Given the description of an element on the screen output the (x, y) to click on. 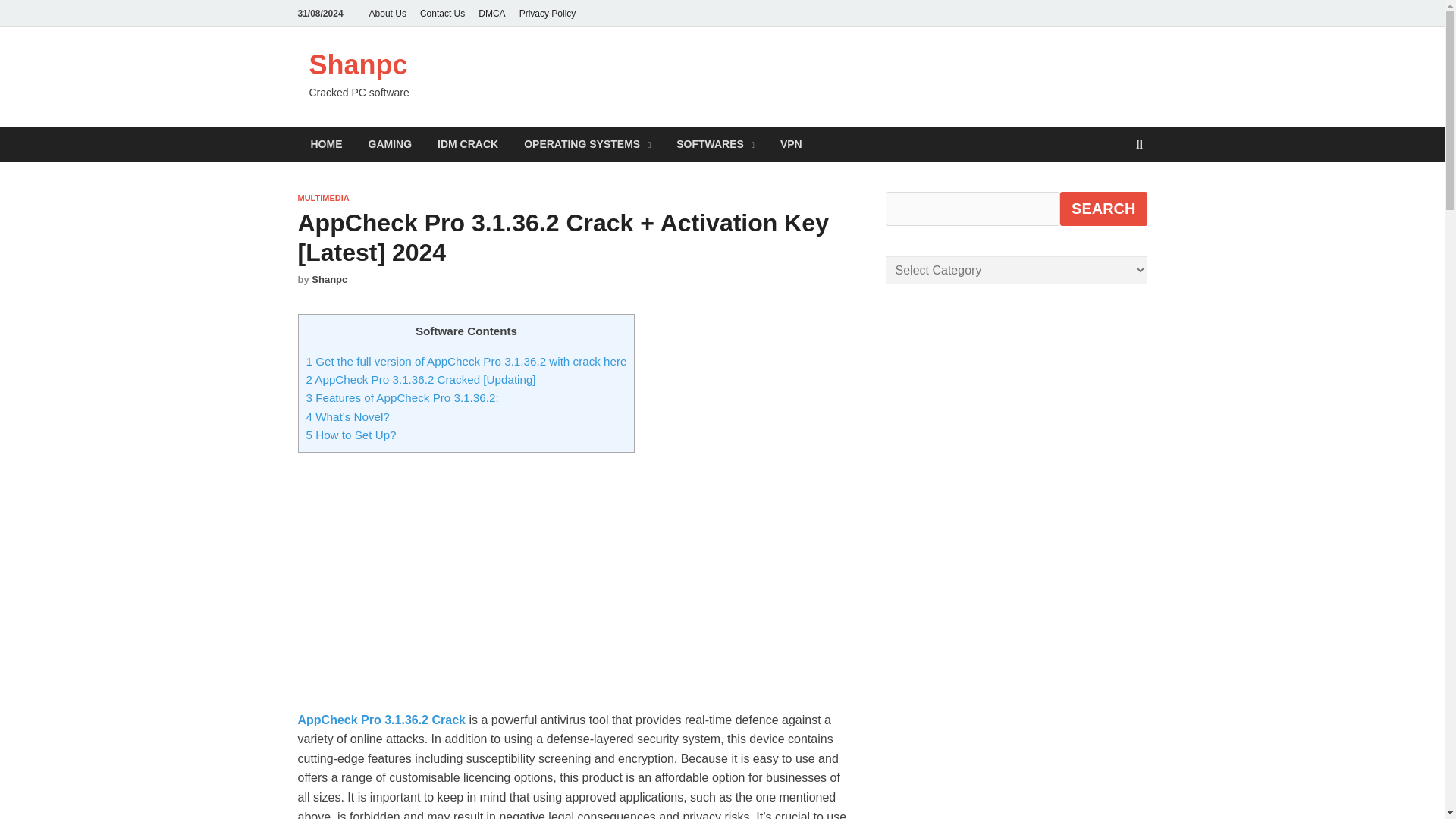
IDM CRACK (468, 144)
About Us (387, 13)
Contact Us (442, 13)
VPN (791, 144)
GAMING (390, 144)
HOME (326, 144)
DMCA (491, 13)
Privacy Policy (547, 13)
3 Features of AppCheck Pro 3.1.36.2: (402, 397)
